Given the description of an element on the screen output the (x, y) to click on. 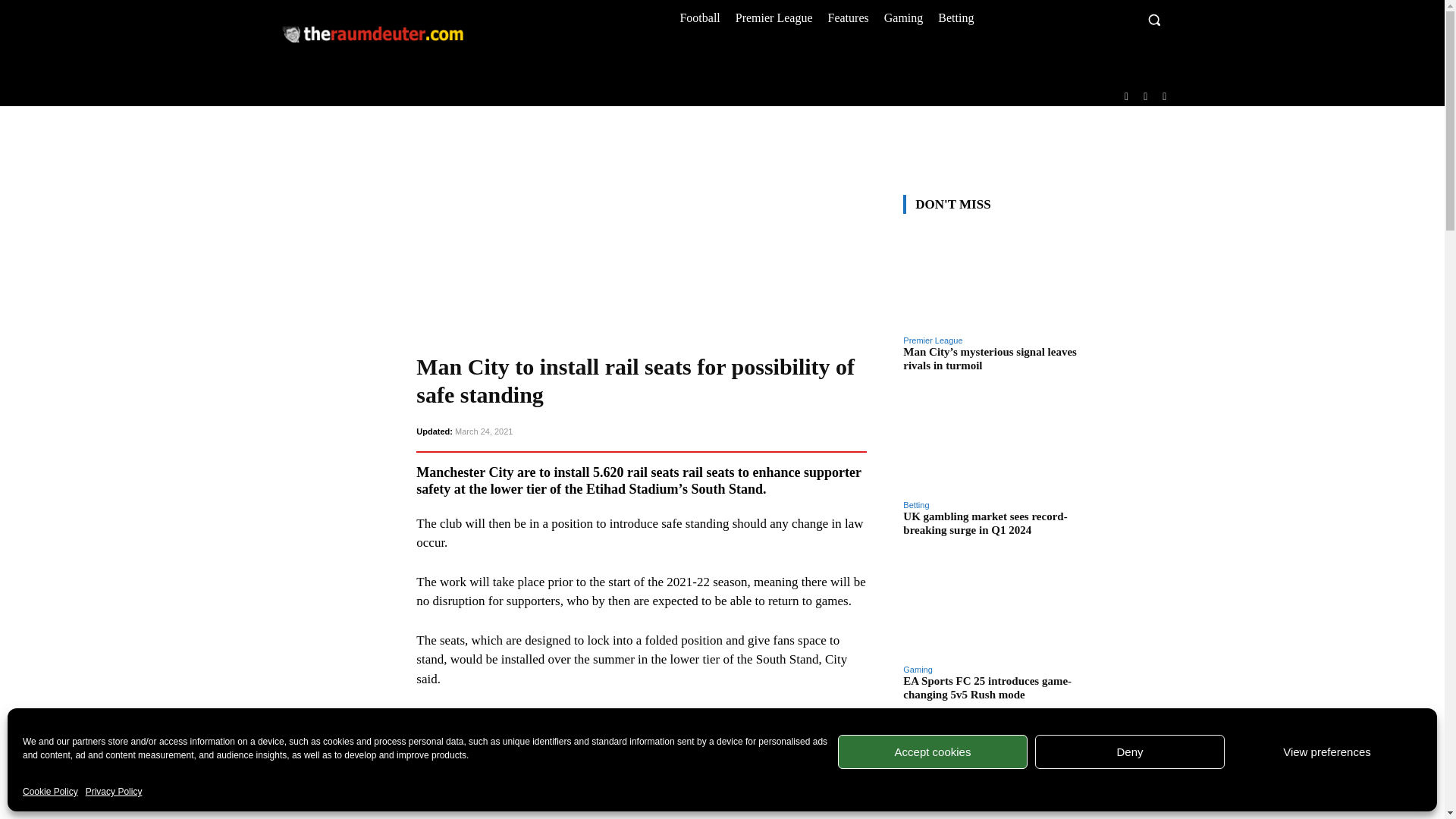
Cookie Policy (50, 791)
Football (698, 17)
Deny (1129, 751)
Premier League (773, 17)
View preferences (1326, 751)
Features (848, 17)
Privacy Policy (113, 791)
Accept cookies (932, 751)
Gaming (903, 17)
